Given the description of an element on the screen output the (x, y) to click on. 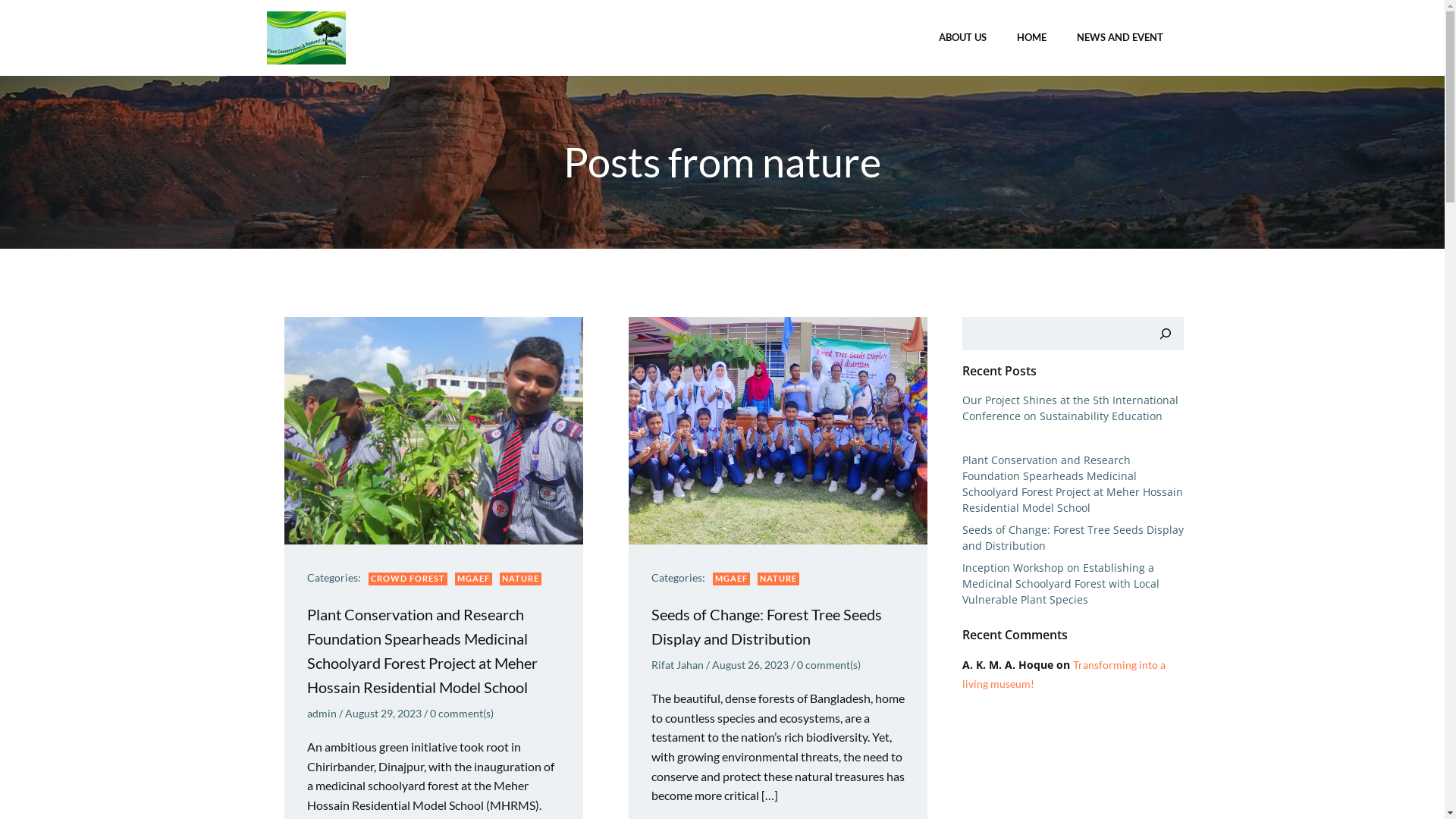
0 Element type: text (799, 664)
Seeds of Change: Forest Tree Seeds Display and Distribution Element type: text (776, 626)
CROWD FOREST Element type: text (407, 578)
HOME Element type: text (1030, 37)
0 Element type: text (432, 712)
ABOUT US Element type: text (962, 37)
Rifat Jahan Element type: text (676, 664)
admin Element type: text (320, 712)
NEWS AND EVENT Element type: text (1119, 37)
Seeds of Change: Forest Tree Seeds Display and Distribution Element type: hover (776, 428)
NATURE Element type: text (777, 578)
August 26, 2023 Element type: text (749, 664)
MGAEF Element type: text (730, 578)
August 29, 2023 Element type: text (382, 712)
NATURE Element type: text (519, 578)
Seeds of Change: Forest Tree Seeds Display and Distribution Element type: text (1072, 537)
MGAEF Element type: text (473, 578)
Transforming into a living museum! Element type: text (1062, 674)
